Given the description of an element on the screen output the (x, y) to click on. 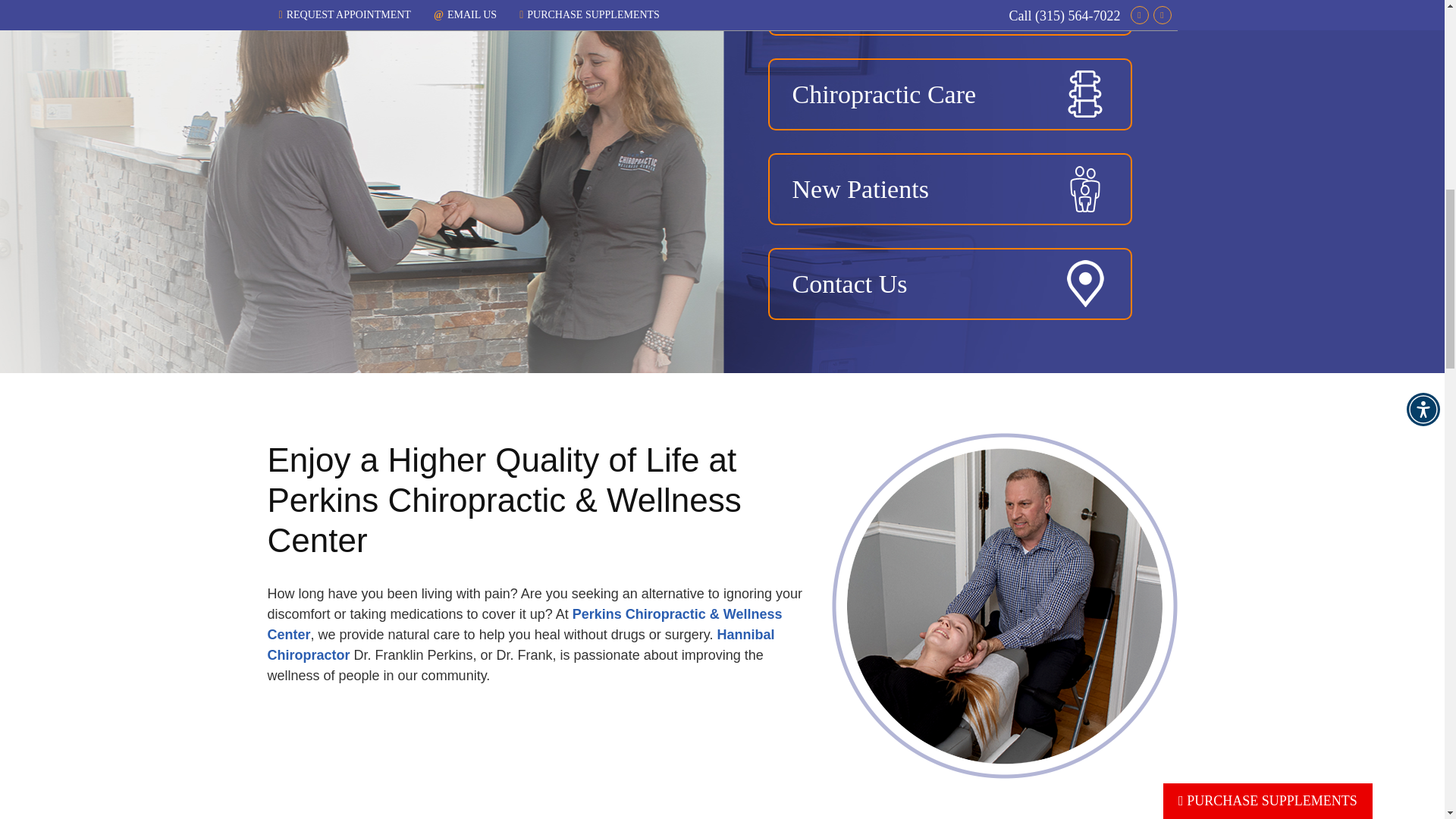
Chiropractic Care (949, 94)
Hannibal Chiropractor (520, 644)
Meet Dr. Frank (949, 18)
Contact Us (949, 284)
New Patients (949, 189)
